Given the description of an element on the screen output the (x, y) to click on. 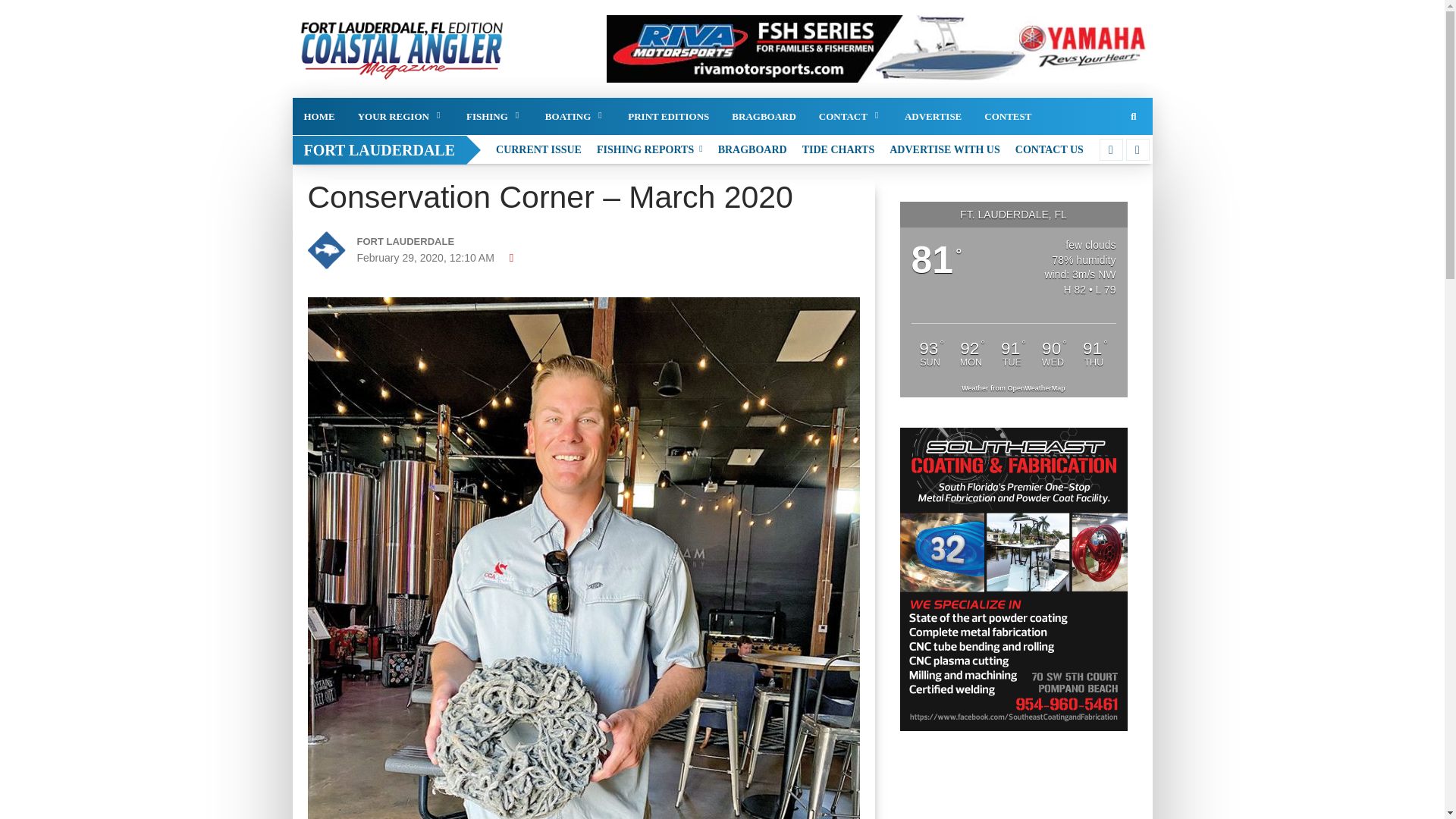
Views (512, 257)
View all posts by Fort Lauderdale (442, 240)
